Given the description of an element on the screen output the (x, y) to click on. 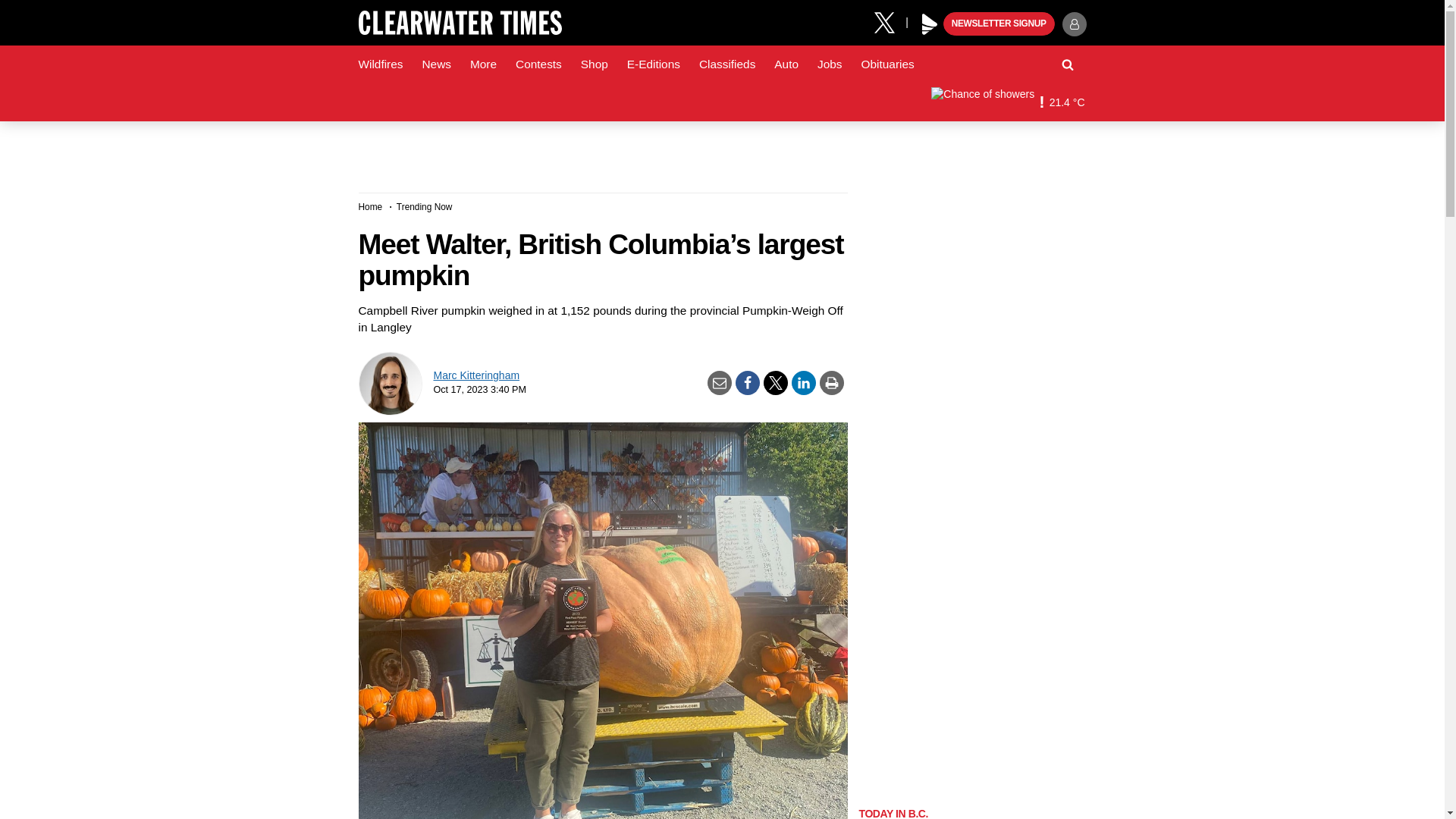
Black Press Media (929, 24)
Wildfires (380, 64)
Play (929, 24)
NEWSLETTER SIGNUP (998, 24)
News (435, 64)
X (889, 21)
